Given the description of an element on the screen output the (x, y) to click on. 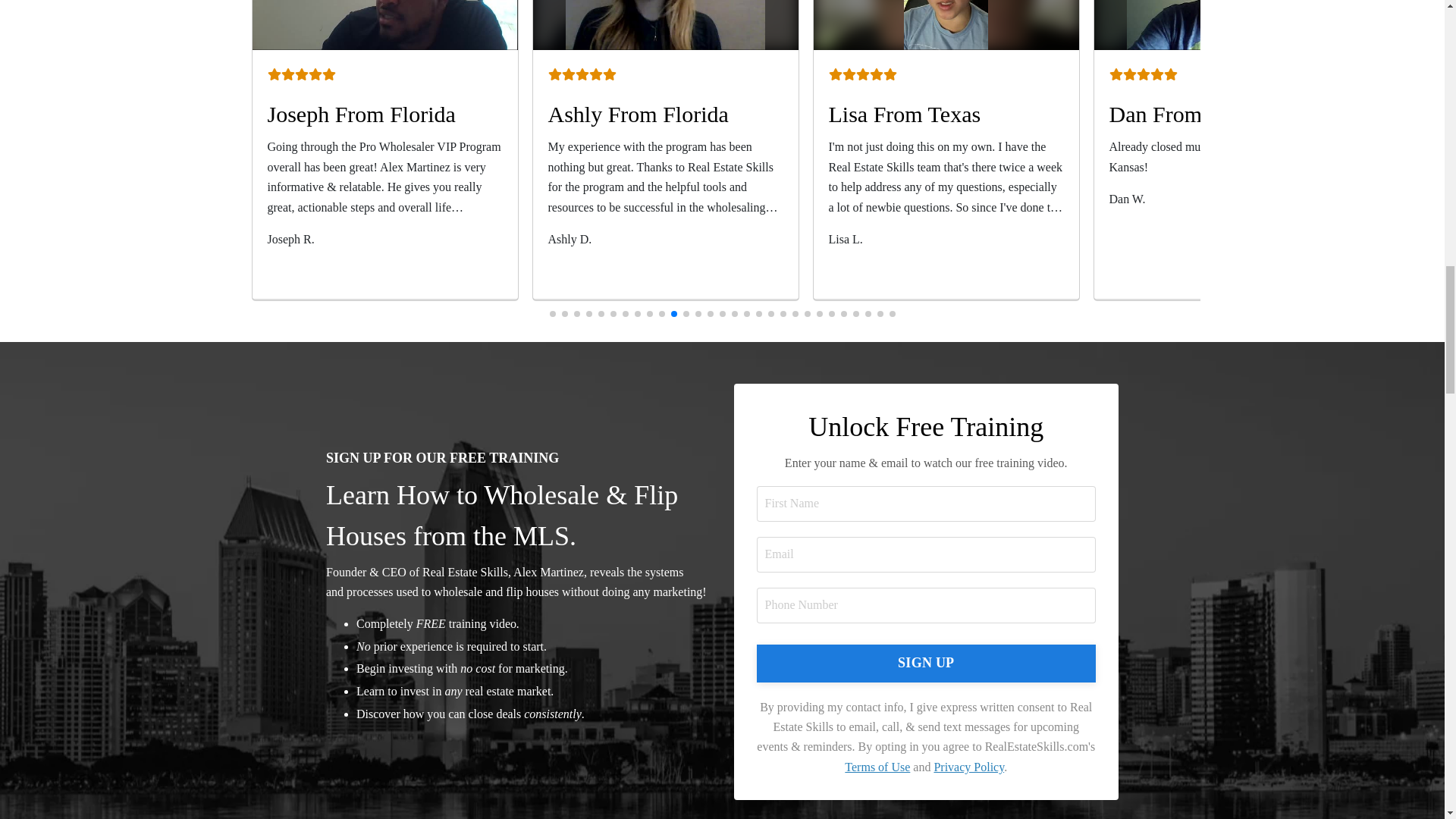
Privacy Policy (968, 766)
Terms of Use (877, 766)
